Given the description of an element on the screen output the (x, y) to click on. 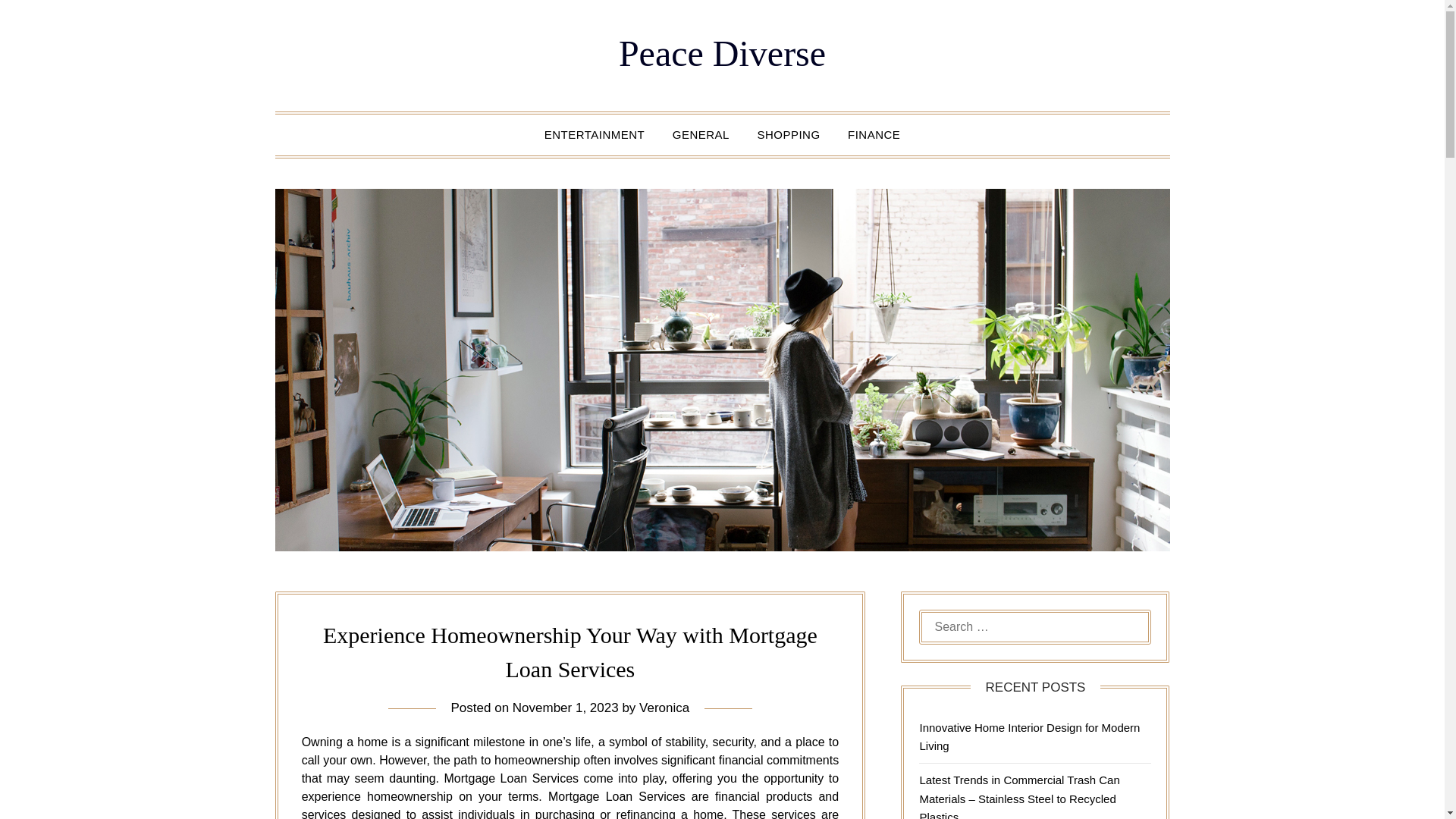
ENTERTAINMENT (595, 134)
Veronica (663, 707)
Search (38, 22)
SHOPPING (787, 134)
Innovative Home Interior Design for Modern Living (1029, 736)
Peace Diverse (721, 53)
November 1, 2023 (565, 707)
GENERAL (701, 134)
FINANCE (873, 134)
